Given the description of an element on the screen output the (x, y) to click on. 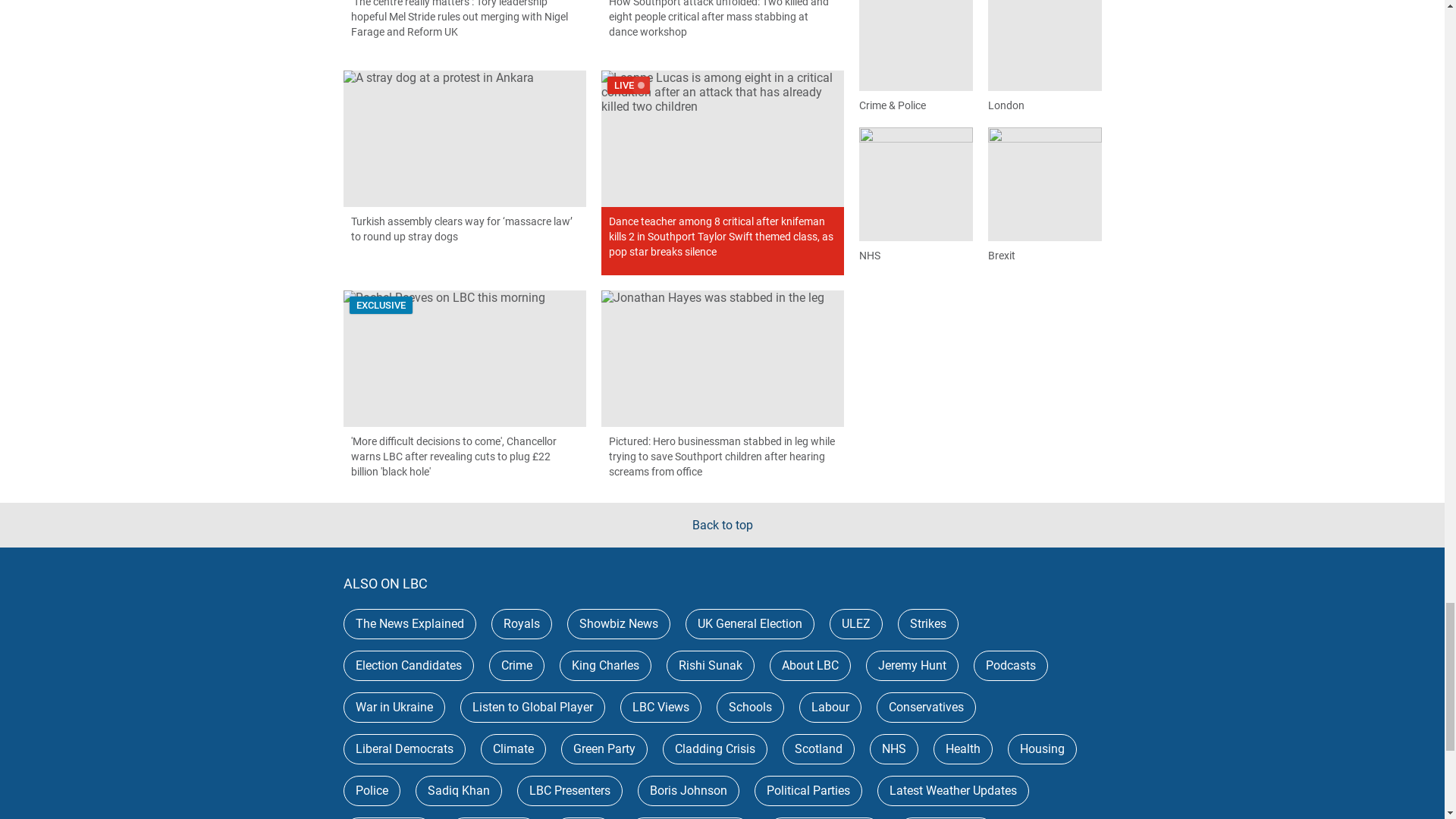
Back to top (721, 524)
